Given the description of an element on the screen output the (x, y) to click on. 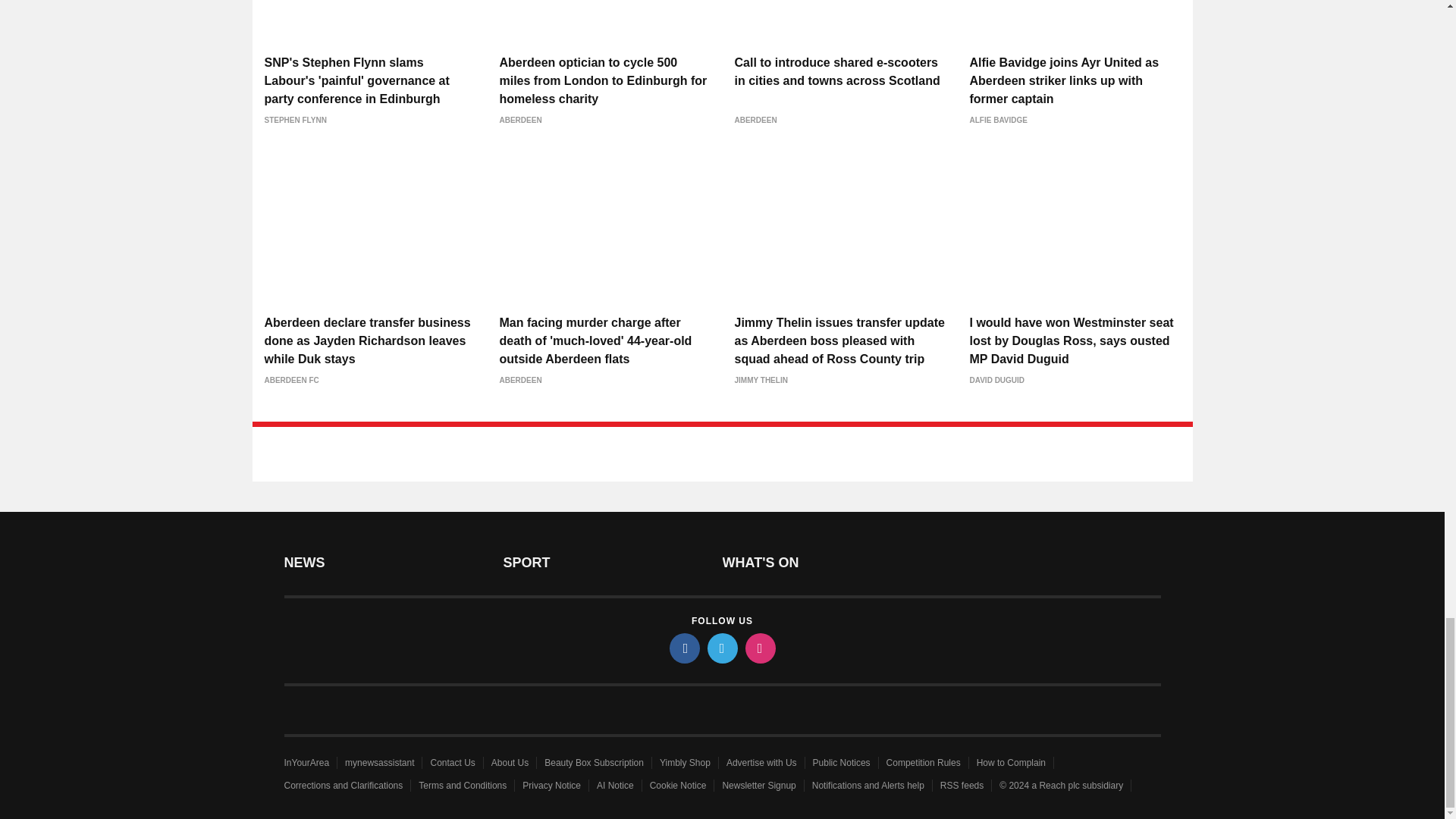
facebook (683, 648)
twitter (721, 648)
instagram (759, 648)
